Given the description of an element on the screen output the (x, y) to click on. 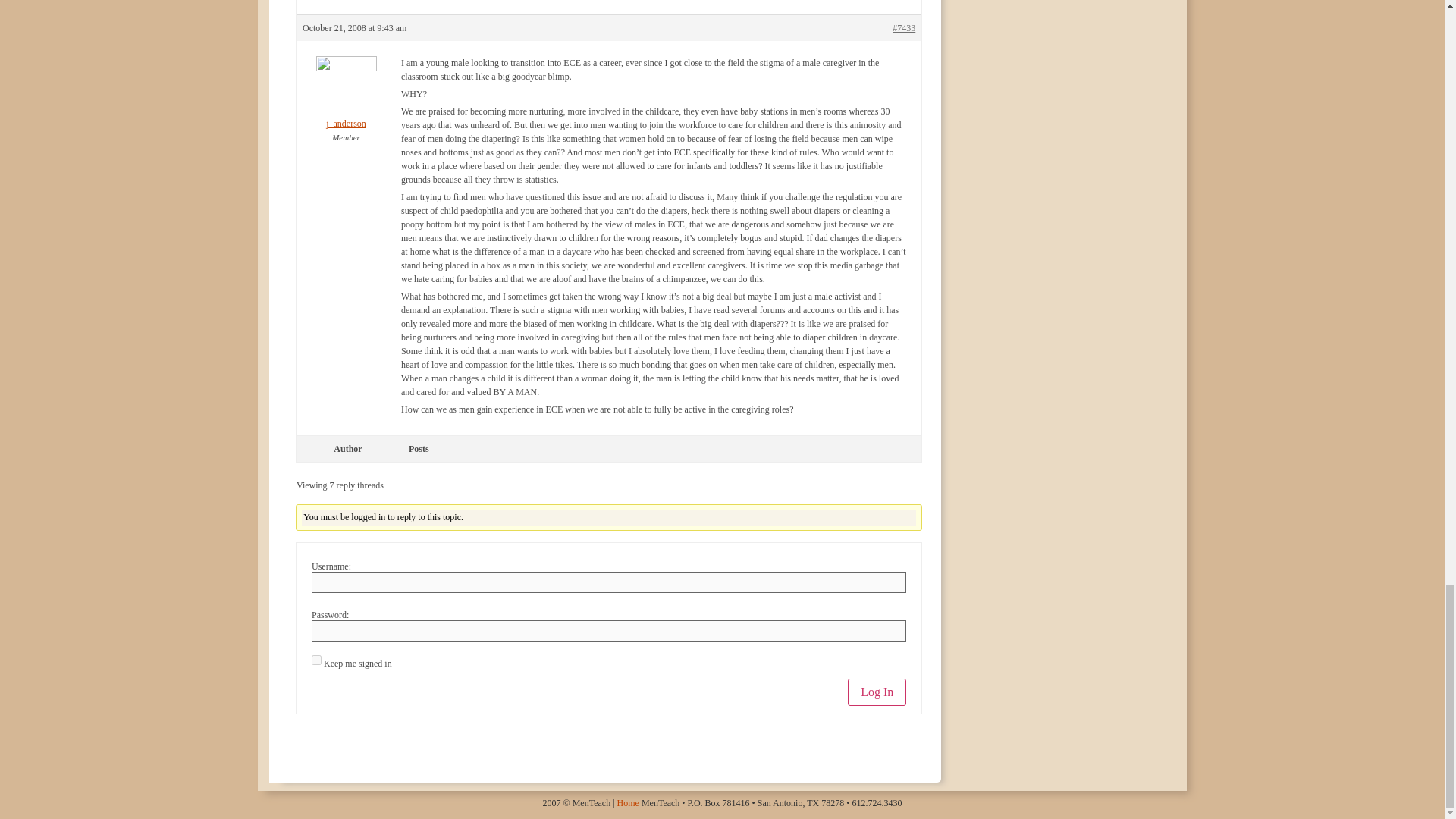
Log In (876, 691)
forever (316, 660)
